Given the description of an element on the screen output the (x, y) to click on. 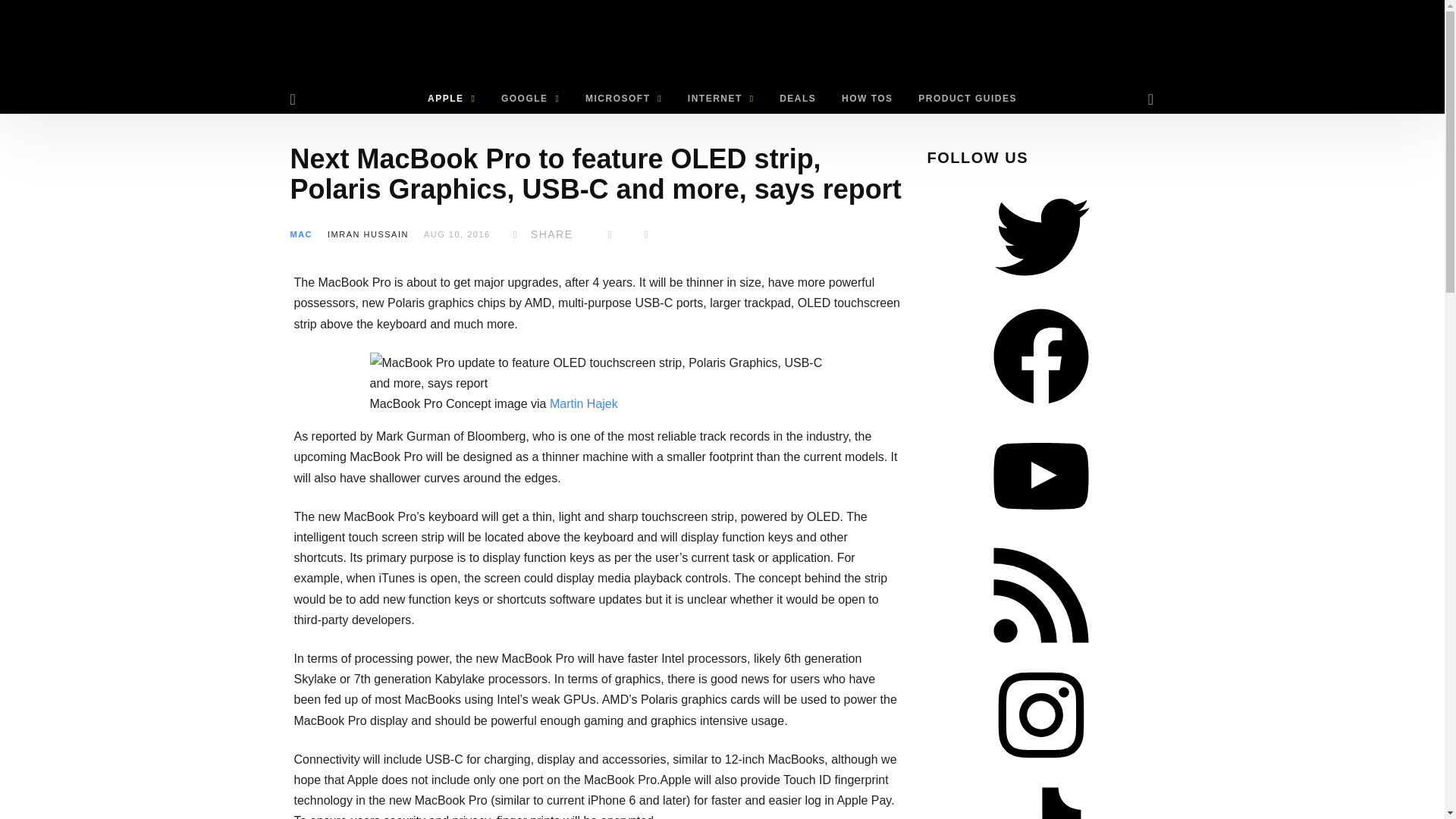
View all posts in Mac (301, 234)
DEALS (797, 98)
More (646, 234)
Posts by Imran Hussain (368, 234)
MICROSOFT (622, 98)
INTERNET (721, 98)
MAC (301, 234)
GOOGLE (529, 98)
SHARE (539, 234)
Share on Facebook (539, 234)
APPLE (451, 98)
HOW TOS (866, 98)
Share on Twitter (610, 234)
IMRAN HUSSAIN (368, 234)
PRODUCT GUIDES (967, 98)
